Given the description of an element on the screen output the (x, y) to click on. 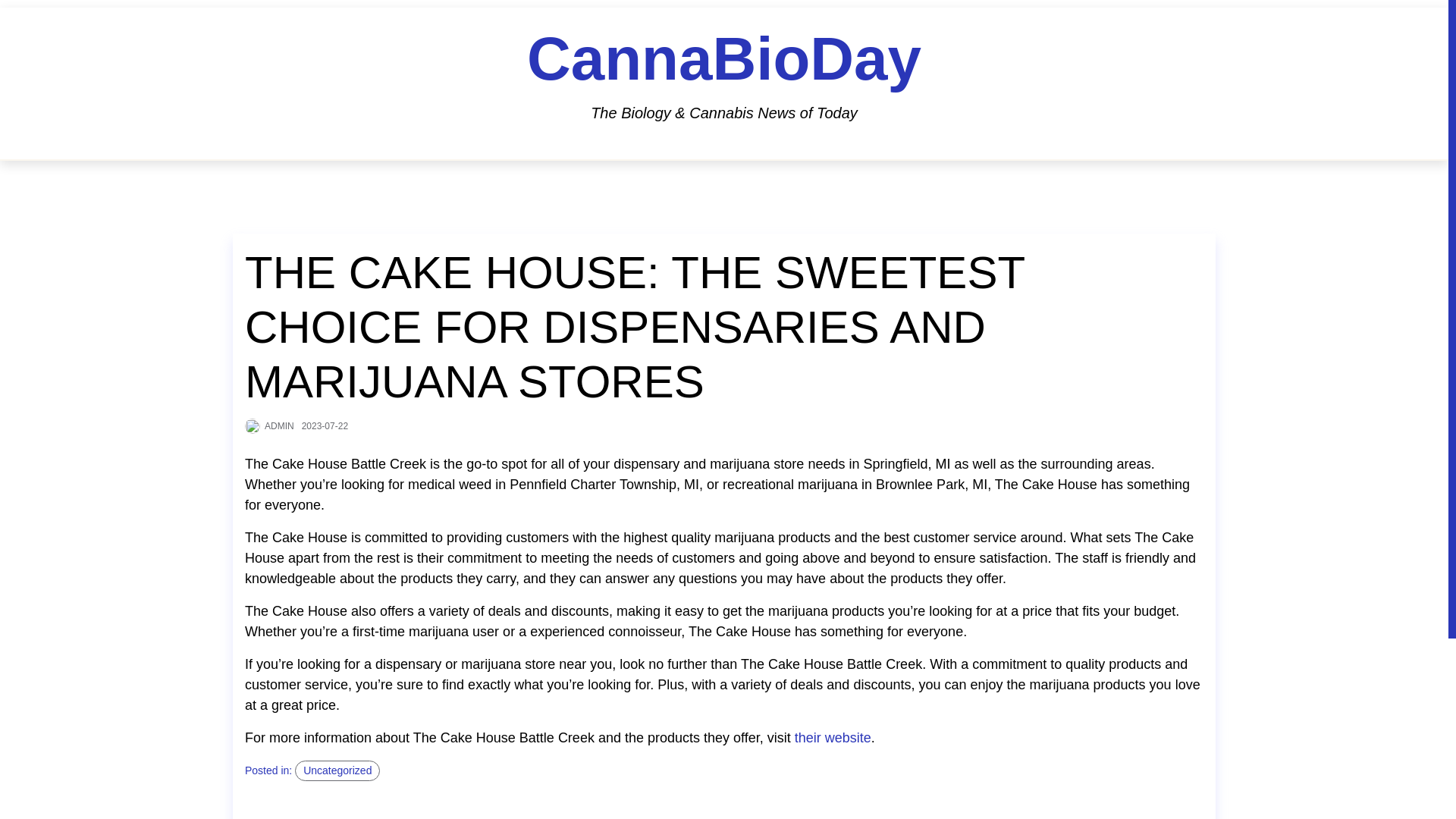
ADMIN (279, 425)
Uncategorized (337, 770)
CannaBioDay (724, 58)
their website (832, 738)
